Given the description of an element on the screen output the (x, y) to click on. 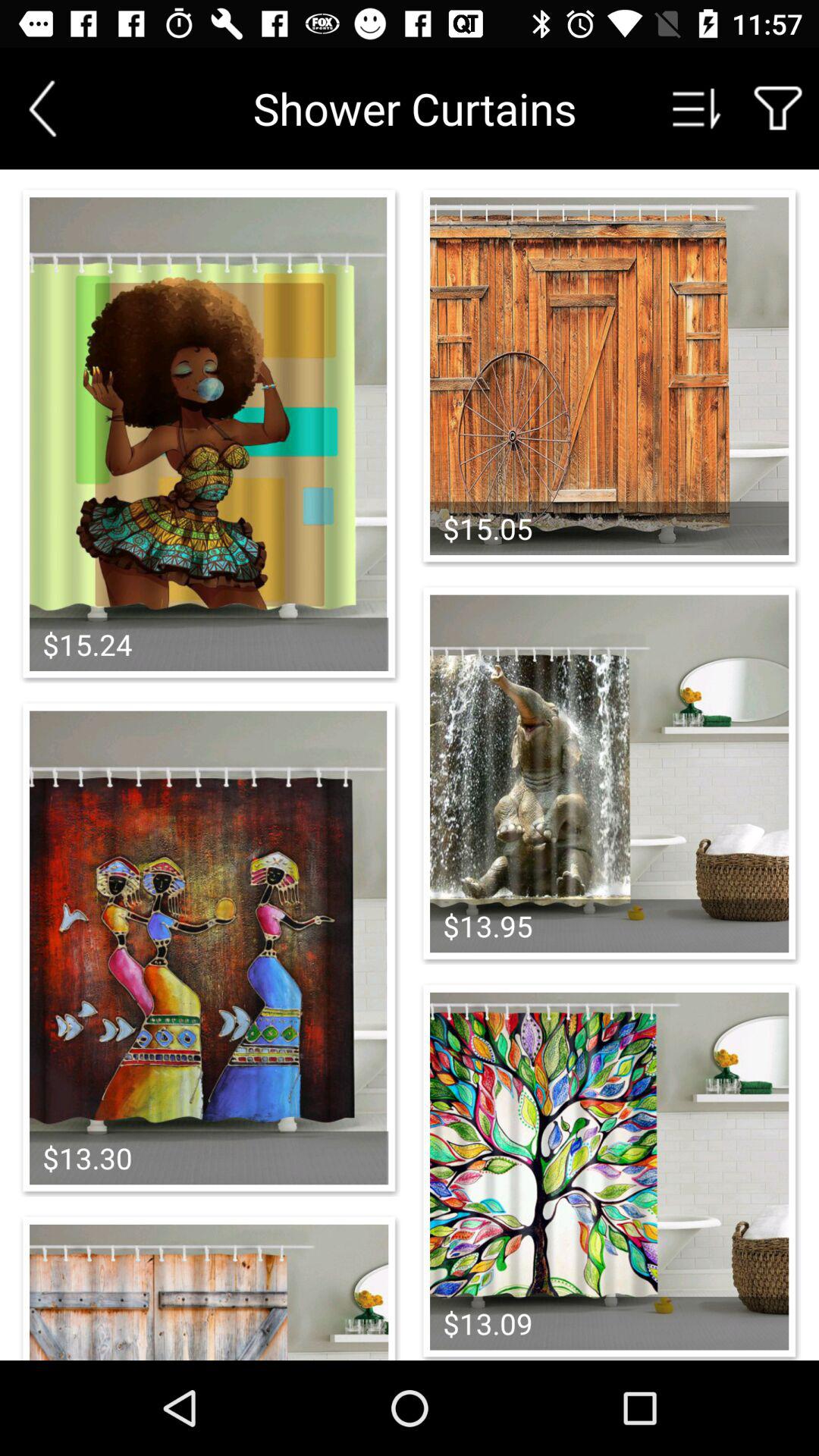
open menu (696, 108)
